Given the description of an element on the screen output the (x, y) to click on. 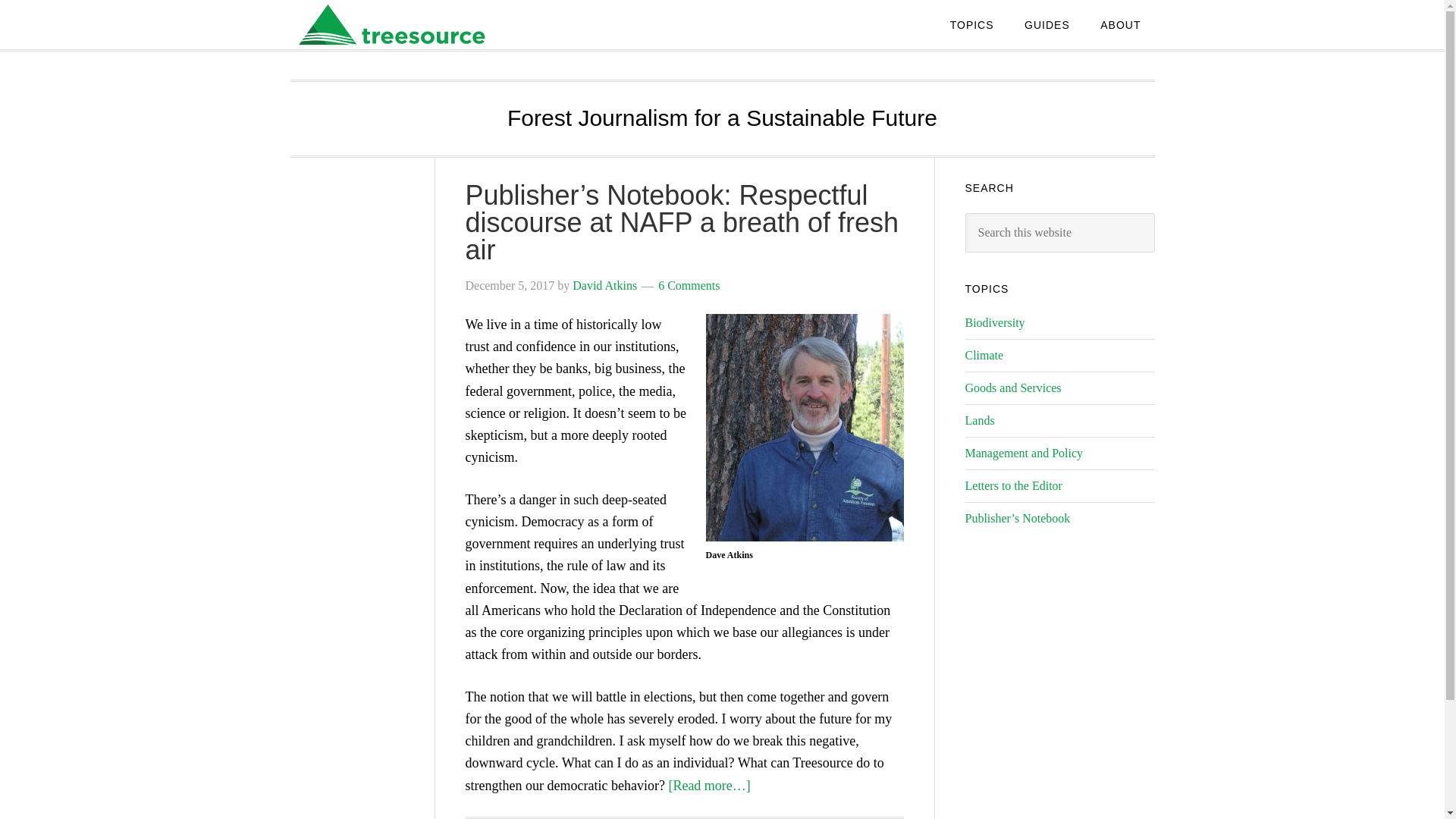
Climate (983, 354)
Goods and Services (1012, 387)
TREESOURCE (410, 24)
TOPICS (971, 24)
6 Comments (688, 285)
Lands (978, 420)
Biodiversity (994, 322)
David Atkins (604, 285)
